Given the description of an element on the screen output the (x, y) to click on. 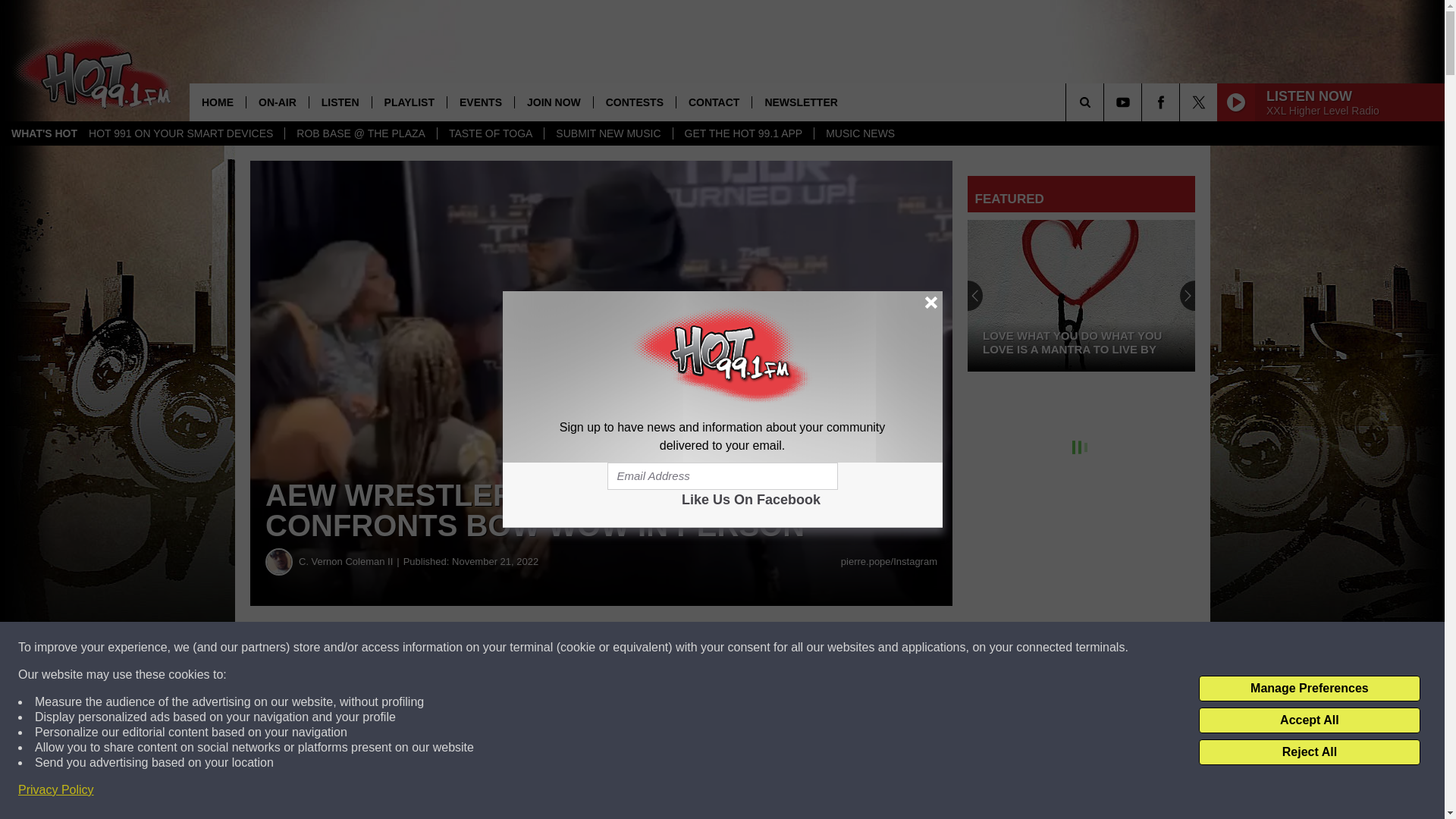
NEWSLETTER (799, 102)
JOIN NOW (552, 102)
SEARCH (1106, 102)
CONTACT (713, 102)
GET THE HOT 99.1 APP (742, 133)
HOT 991 ON YOUR SMART DEVICES (180, 133)
Email Address (722, 475)
HOME (217, 102)
Share on Facebook (460, 647)
Share on Twitter (741, 647)
ON-AIR (277, 102)
TASTE OF TOGA (489, 133)
EVENTS (479, 102)
MUSIC NEWS (859, 133)
Accept All (1309, 720)
